Given the description of an element on the screen output the (x, y) to click on. 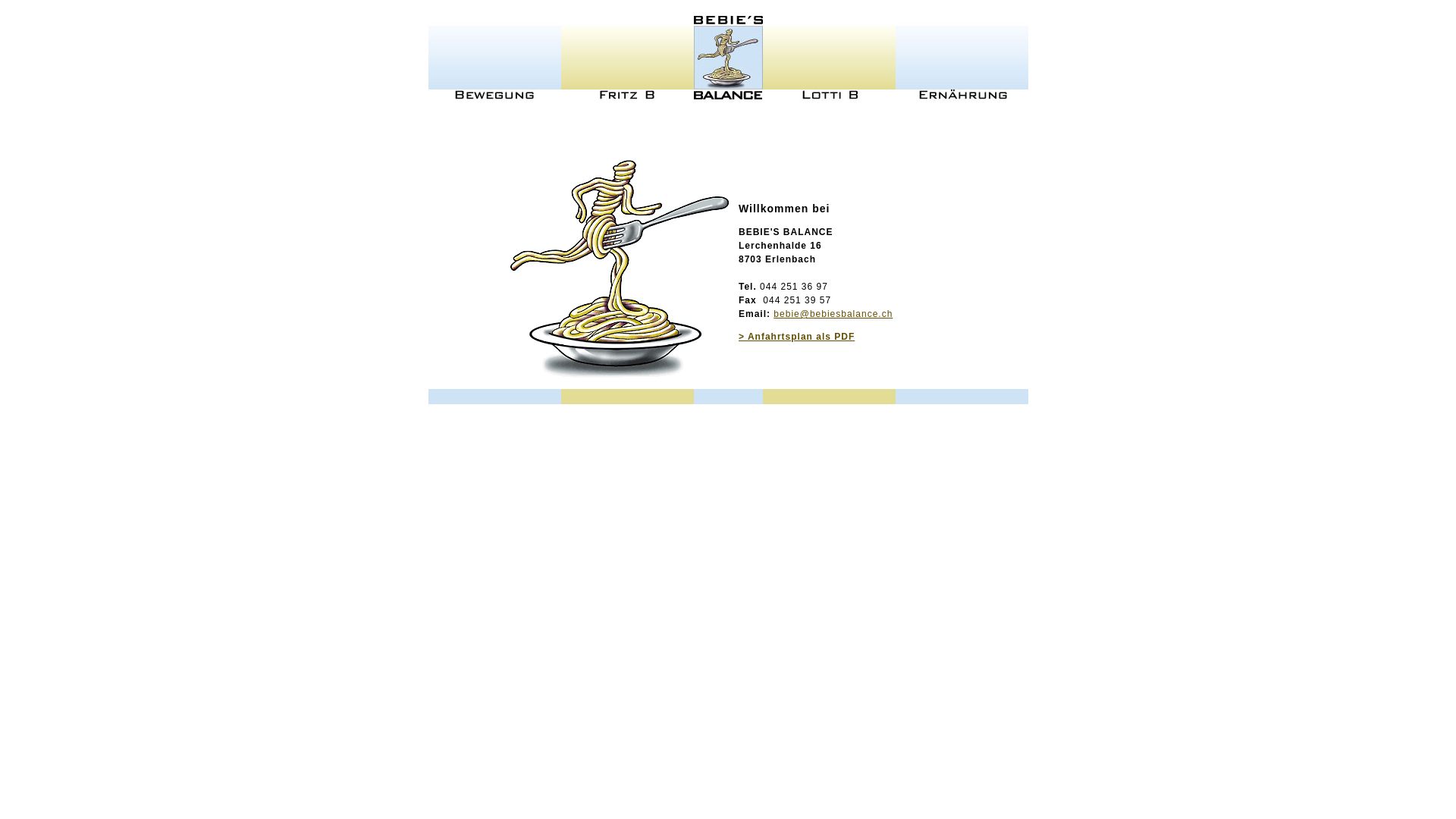
> Anfahrtsplan als PDF Element type: text (796, 336)
bebie@bebiesbalance.ch Element type: text (832, 313)
